Given the description of an element on the screen output the (x, y) to click on. 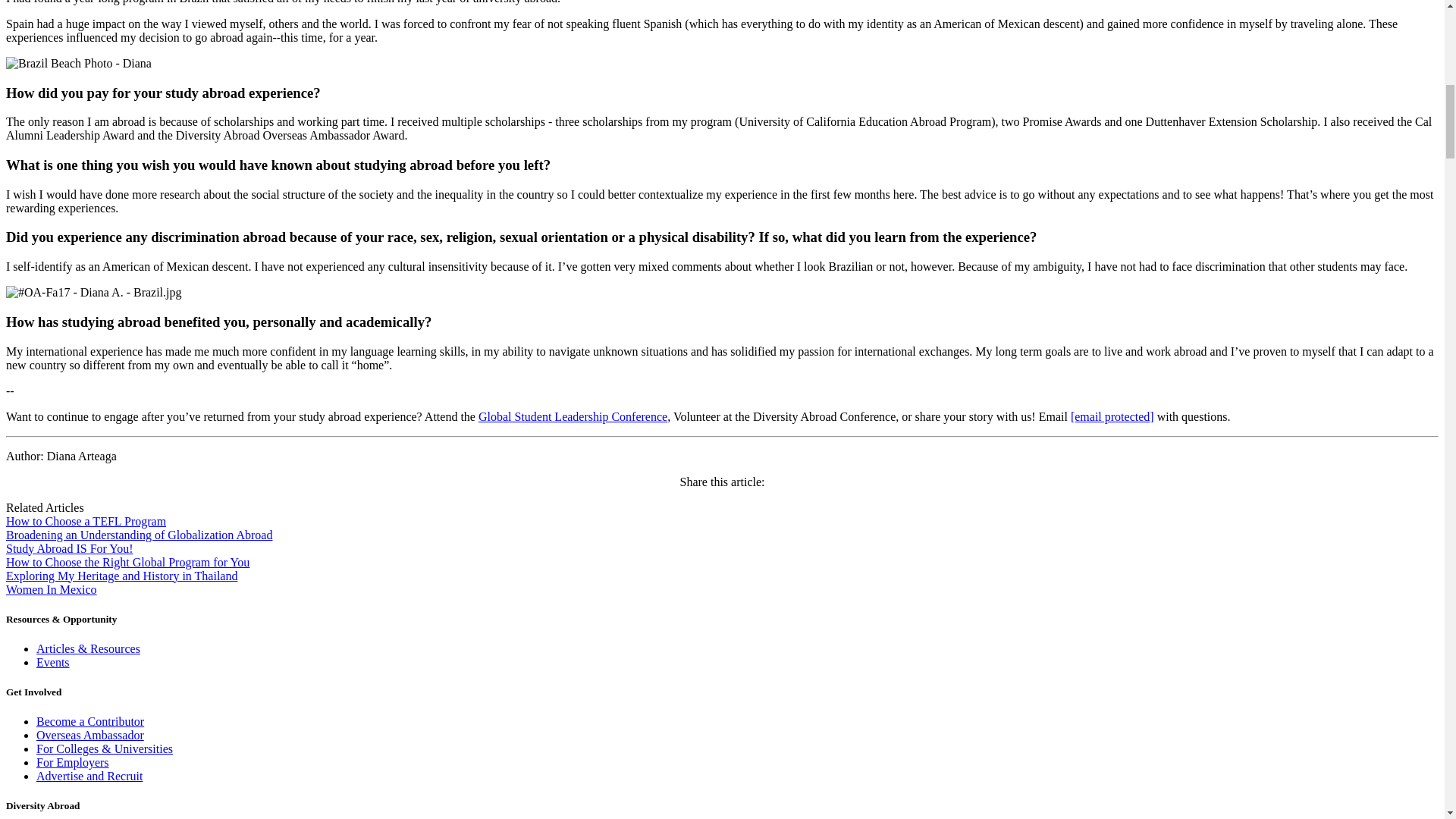
Study Abroad IS For You! (69, 548)
Broadening an Understanding of Globalization Abroad (138, 534)
How to Choose a TEFL Program (85, 521)
How to Choose the Right Global Program for You (126, 562)
Global Student Leadership Conference (572, 416)
